Given the description of an element on the screen output the (x, y) to click on. 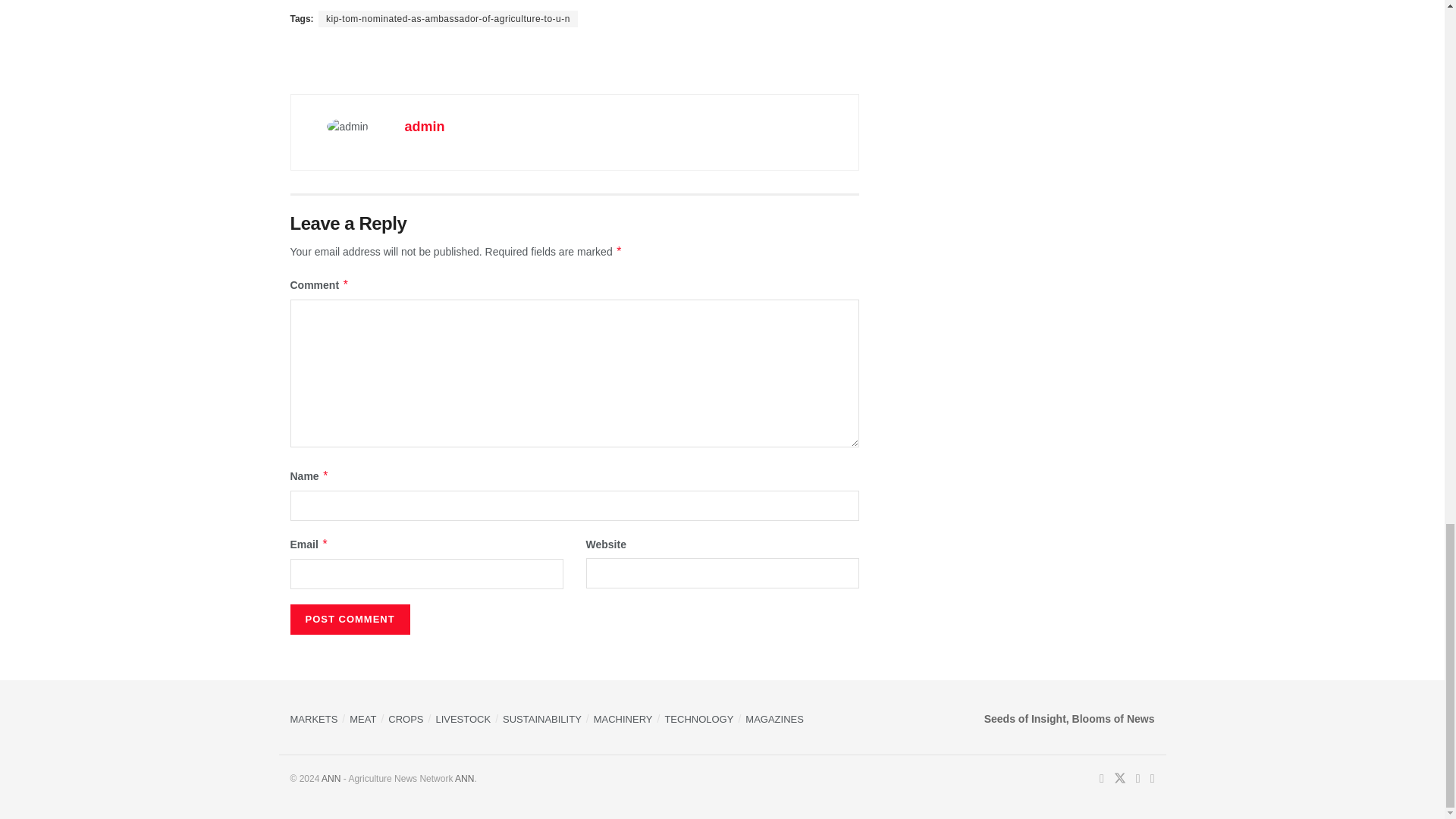
Post Comment (349, 619)
ANN (464, 778)
kip-tom-nominated-as-ambassador-of-agriculture-to-u-n (448, 18)
admin (424, 126)
